Given the description of an element on the screen output the (x, y) to click on. 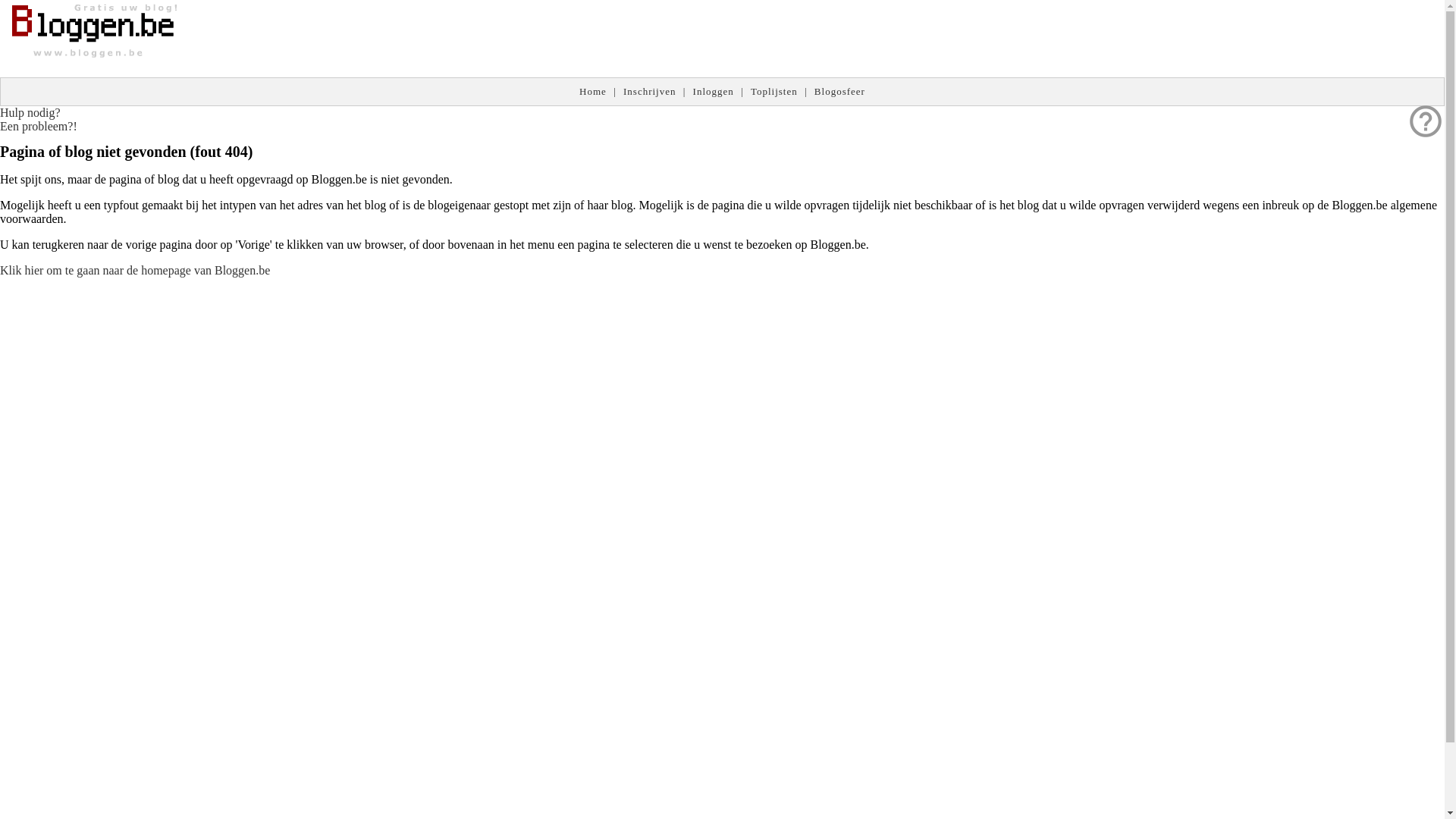
Inschrijven Element type: text (649, 91)
Klik hier om te gaan naar de homepage van Bloggen.be Element type: text (134, 269)
Inloggen Element type: text (713, 91)
help_outline
Hulp nodig?
Een probleem?! Element type: text (38, 119)
Toplijsten Element type: text (773, 91)
Blogosfeer Element type: text (839, 91)
Home Element type: text (592, 91)
